Given the description of an element on the screen output the (x, y) to click on. 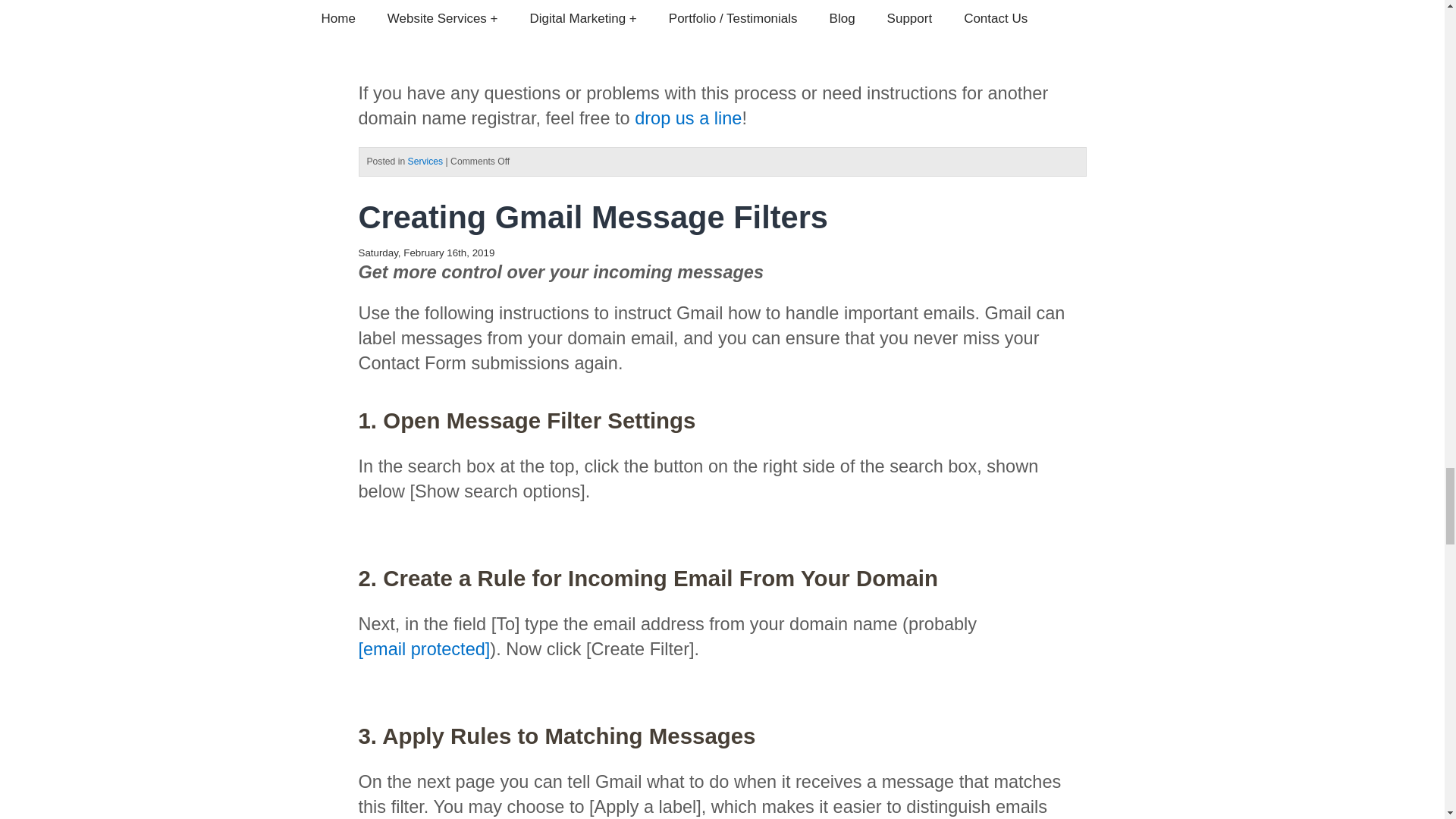
Creating Gmail Message Filters (593, 217)
Permanent Link to Creating Gmail Message Filters (593, 217)
drop us a line (687, 117)
Services (425, 161)
